Given the description of an element on the screen output the (x, y) to click on. 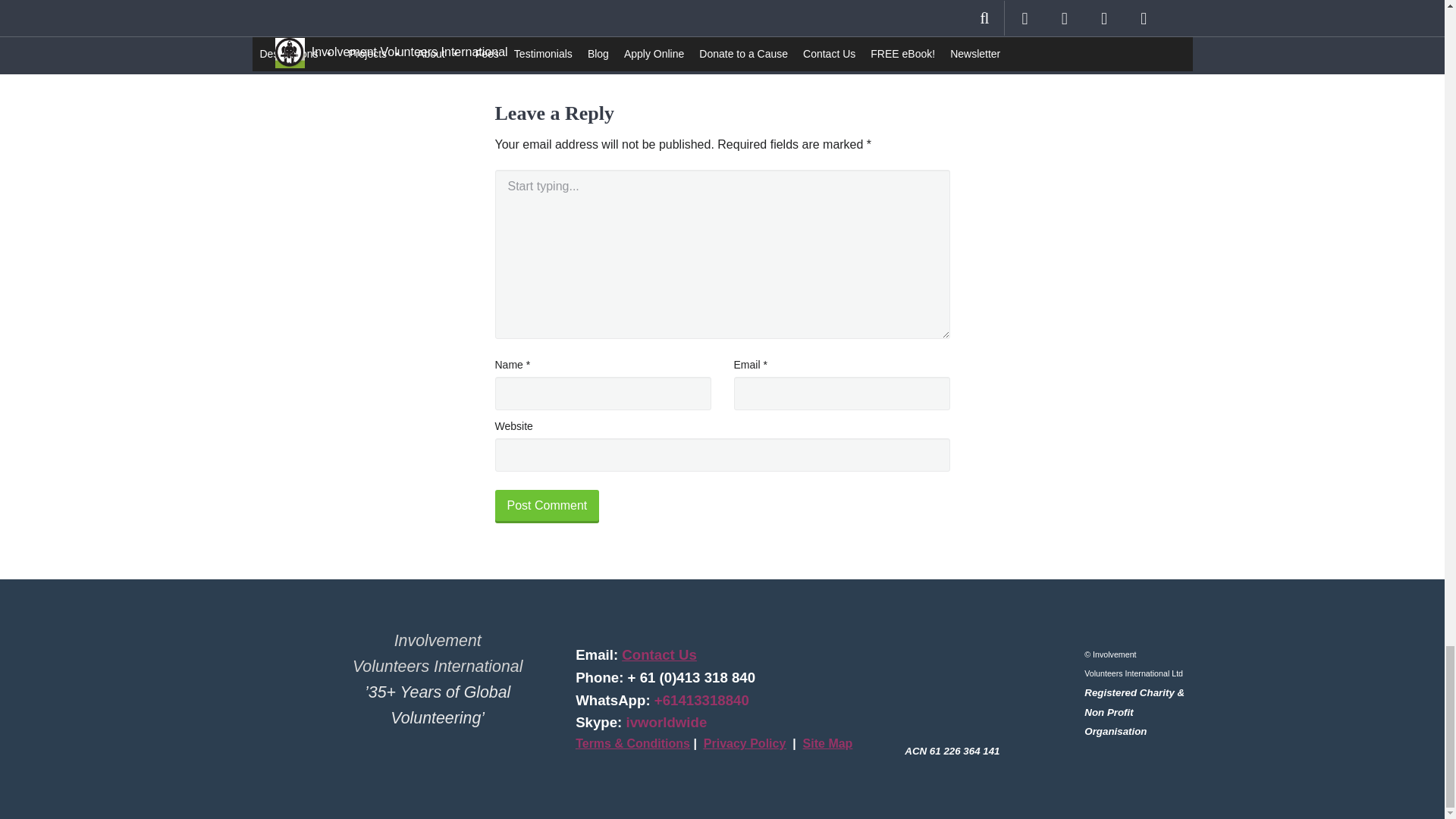
monks in Sri Lanka (722, 28)
Post Comment (546, 506)
